Given the description of an element on the screen output the (x, y) to click on. 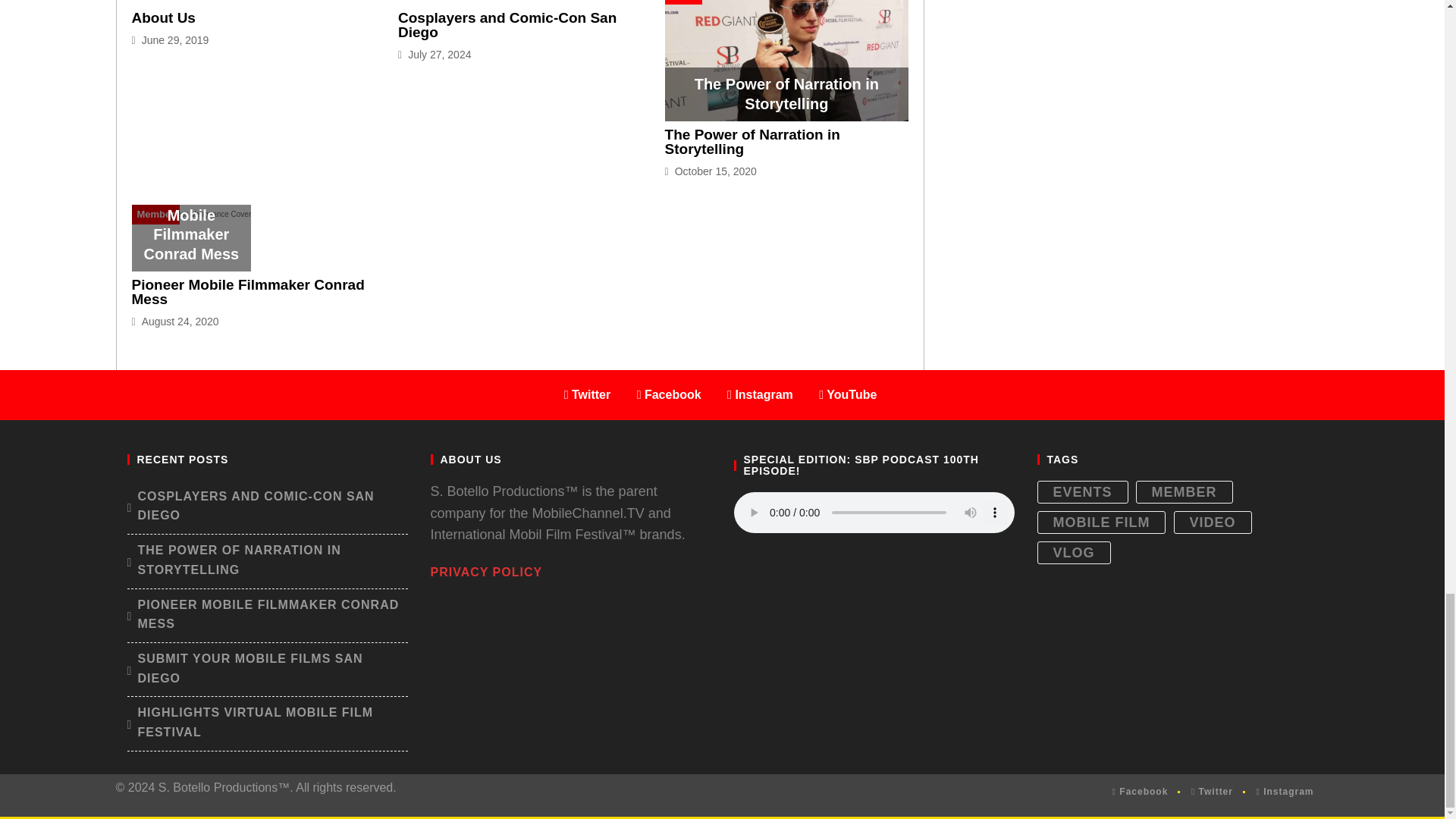
Instagram (1284, 791)
THE POWER OF NARRATION IN STORYTELLING (267, 559)
Cosplayers and Comic-Con San Diego (506, 24)
Instagram (759, 394)
SUBMIT YOUR MOBILE FILMS SAN DIEGO (267, 668)
Pioneer Mobile Filmmaker Conrad Mess (248, 291)
Facebook (669, 394)
COSPLAYERS AND COMIC-CON SAN DIEGO (267, 505)
Facebook (1140, 791)
The Power of Narration in Storytelling (752, 141)
Twitter (1212, 791)
PIONEER MOBILE FILMMAKER CONRAD MESS (267, 614)
YouTube (847, 394)
About Us (163, 17)
Twitter (587, 394)
